Given the description of an element on the screen output the (x, y) to click on. 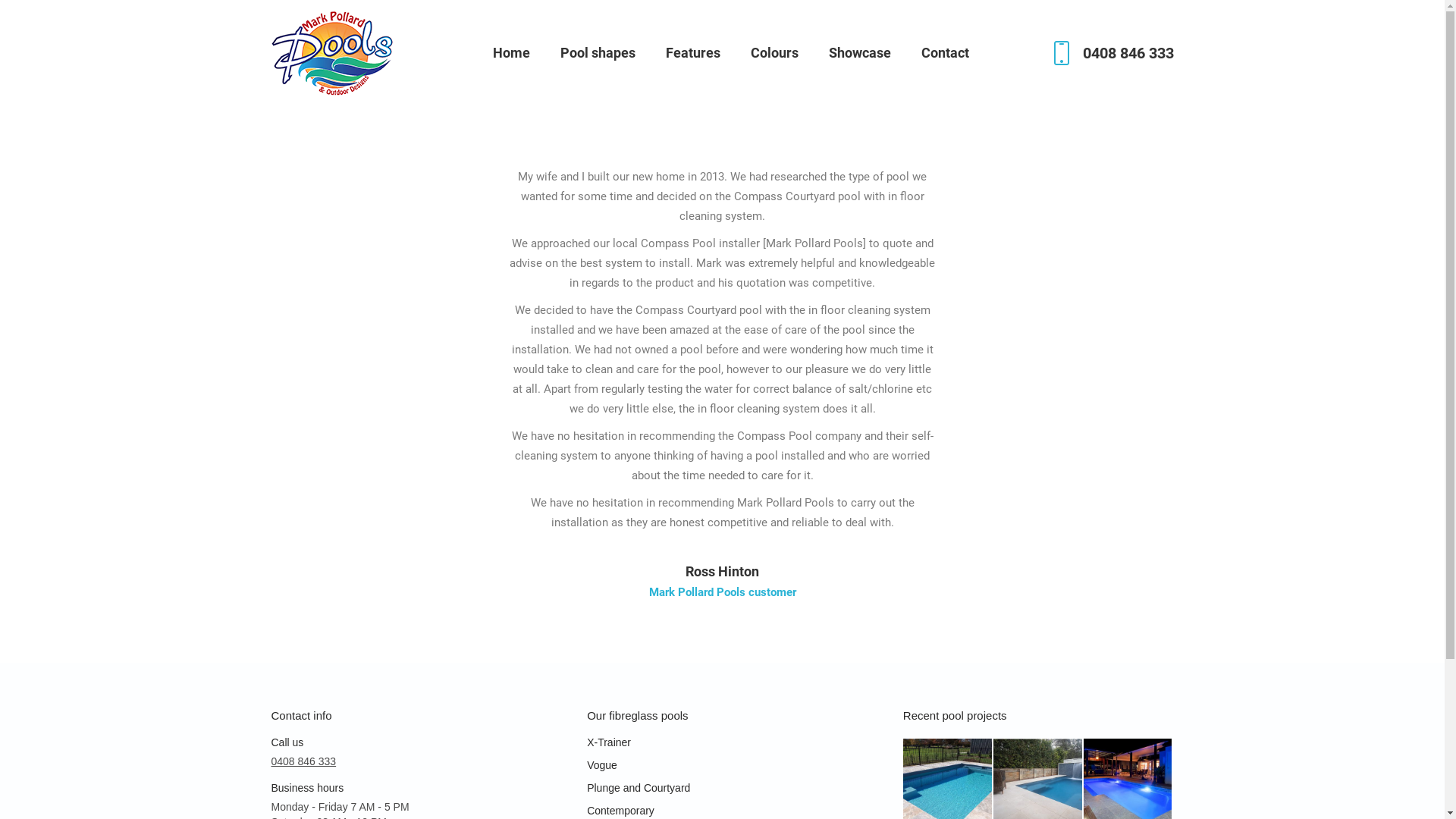
Contact Element type: text (945, 52)
Plunge and Courtyard Element type: text (721, 791)
Showcase Element type: text (859, 52)
0408 846 333 Element type: text (303, 761)
Home Element type: text (511, 52)
Features Element type: text (692, 52)
Vogue Element type: text (721, 768)
X-Trainer Element type: text (721, 745)
Colours Element type: text (774, 52)
Pool shapes Element type: text (597, 52)
0408 846 333 Element type: text (1109, 52)
